Given the description of an element on the screen output the (x, y) to click on. 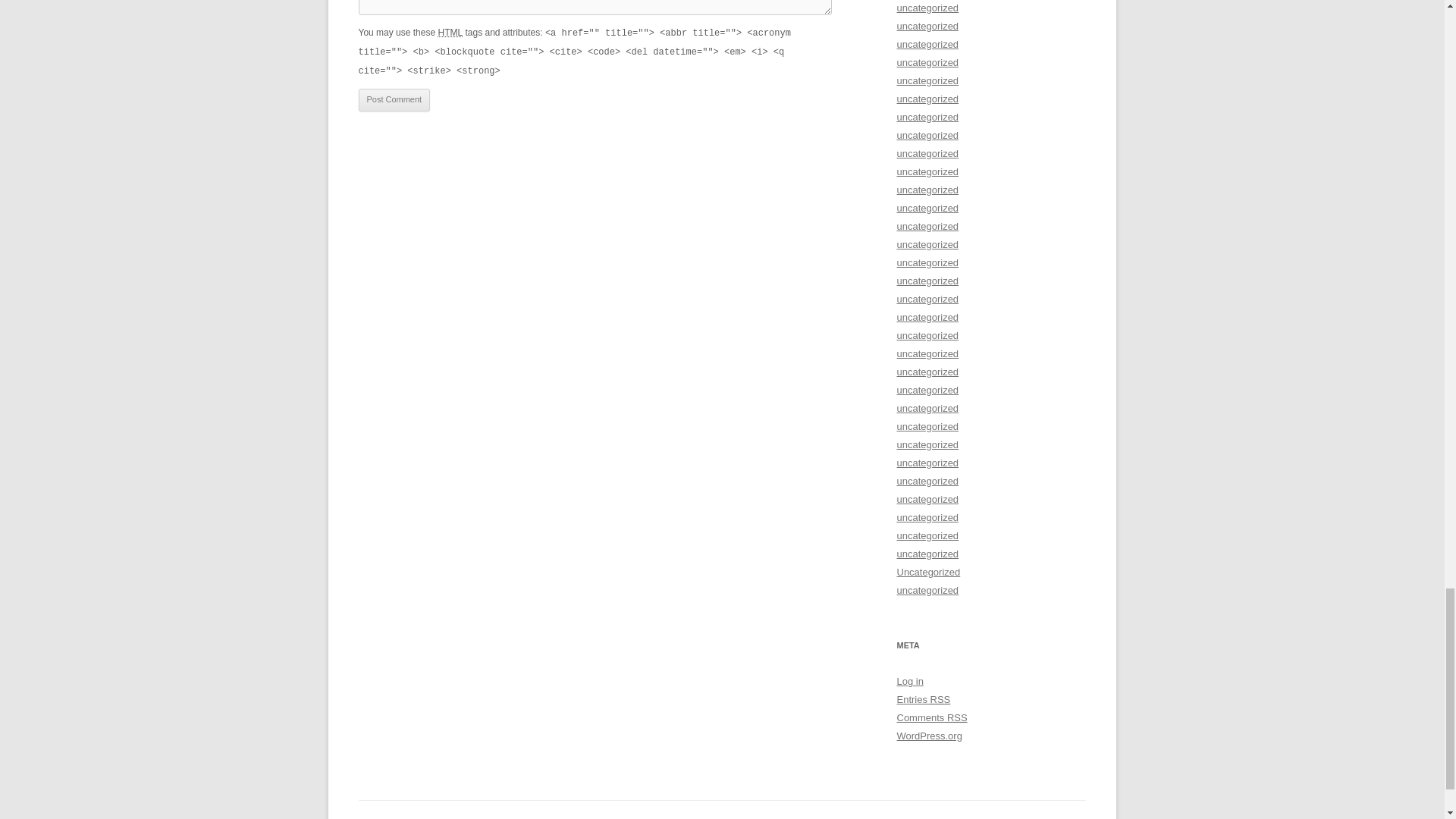
HyperText Markup Language (450, 32)
Post Comment (393, 99)
Post Comment (393, 99)
